Given the description of an element on the screen output the (x, y) to click on. 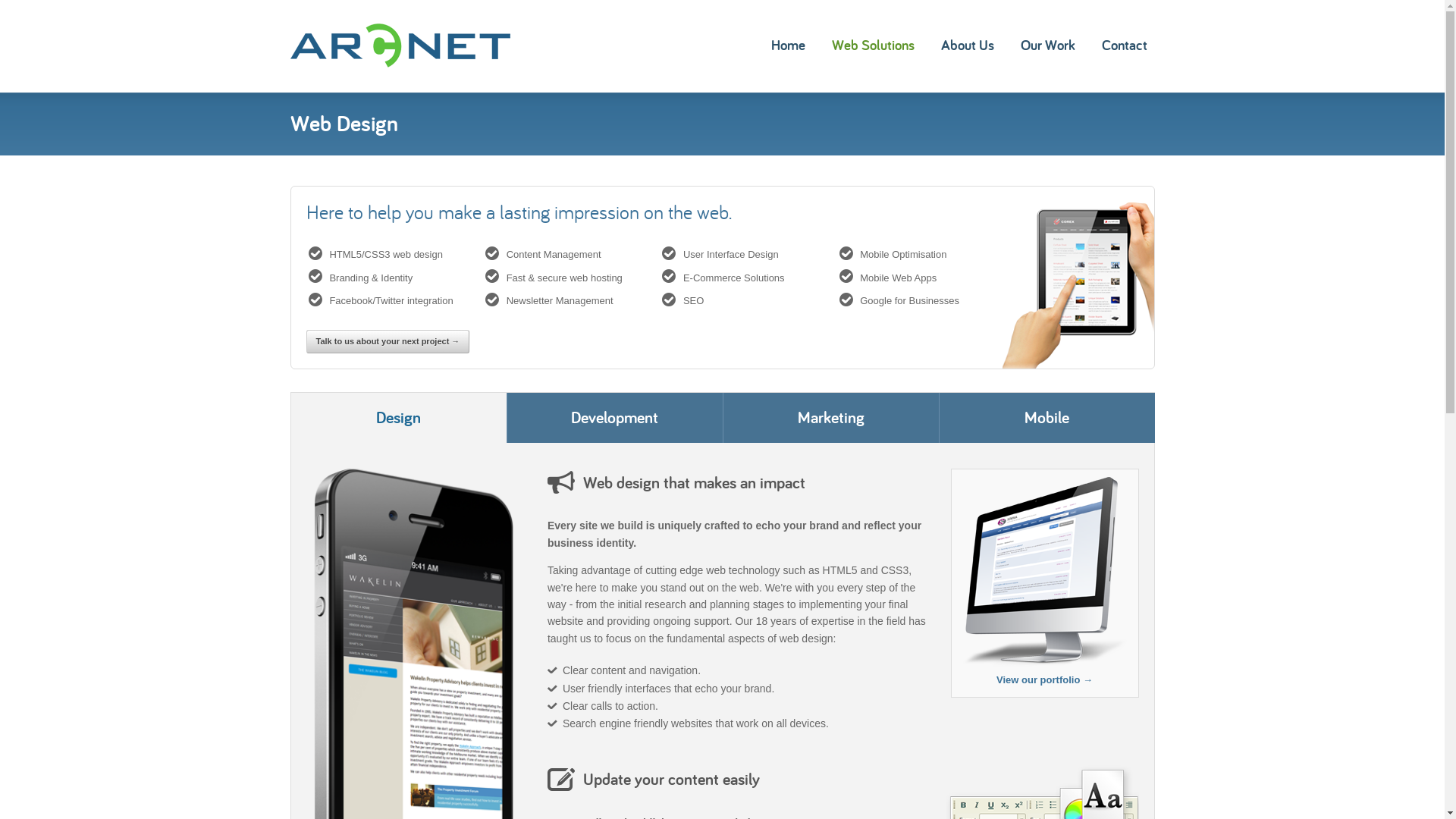
Web Solutions Element type: text (872, 45)
About Us Element type: text (966, 45)
Marketing Element type: text (829, 417)
Our Work Element type: text (1047, 45)
Contact Element type: text (1123, 45)
Mobile Element type: text (1046, 417)
Home Element type: text (787, 45)
Design Element type: text (397, 417)
Development Element type: text (614, 417)
